Given the description of an element on the screen output the (x, y) to click on. 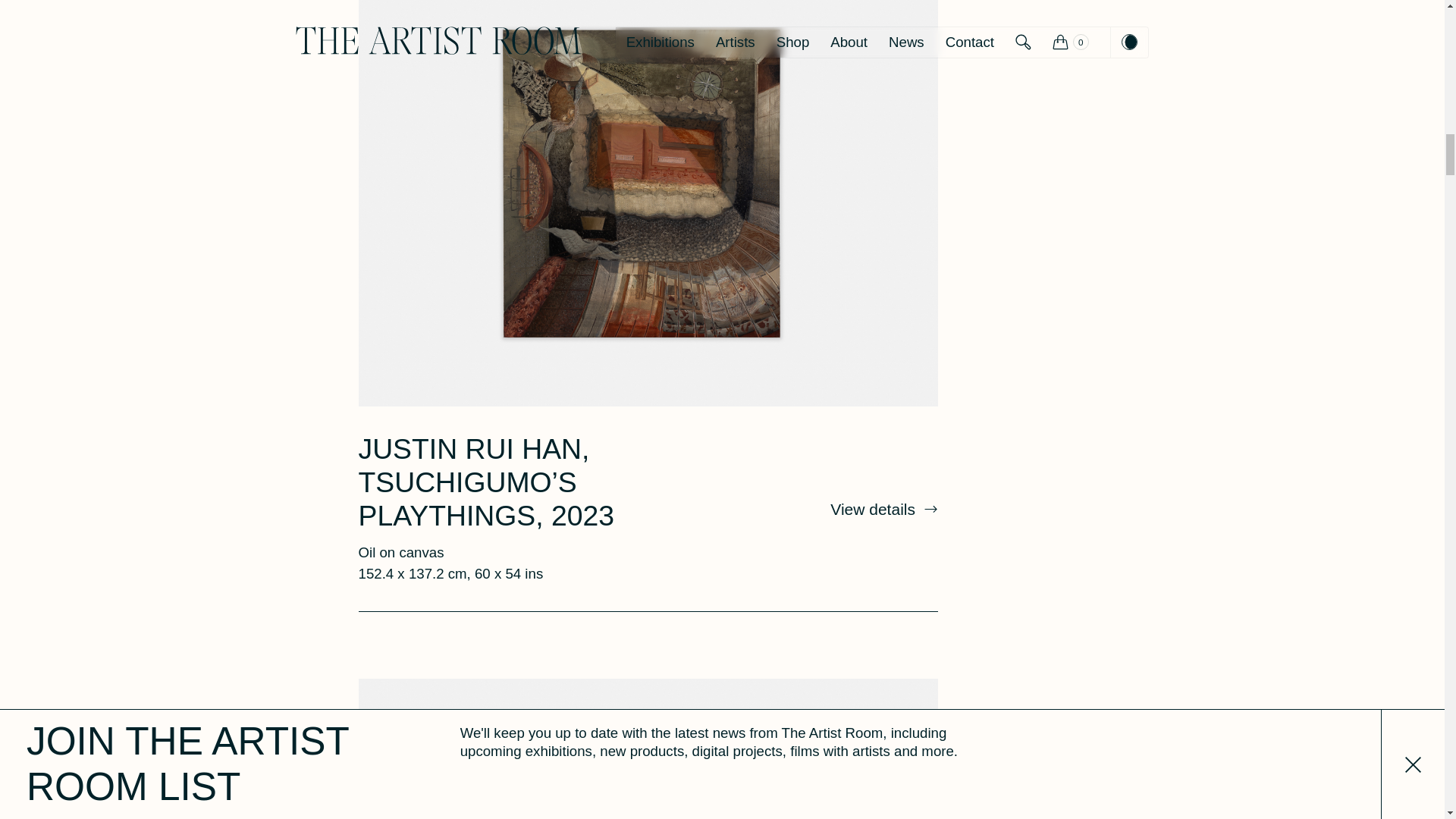
View details (883, 508)
